Given the description of an element on the screen output the (x, y) to click on. 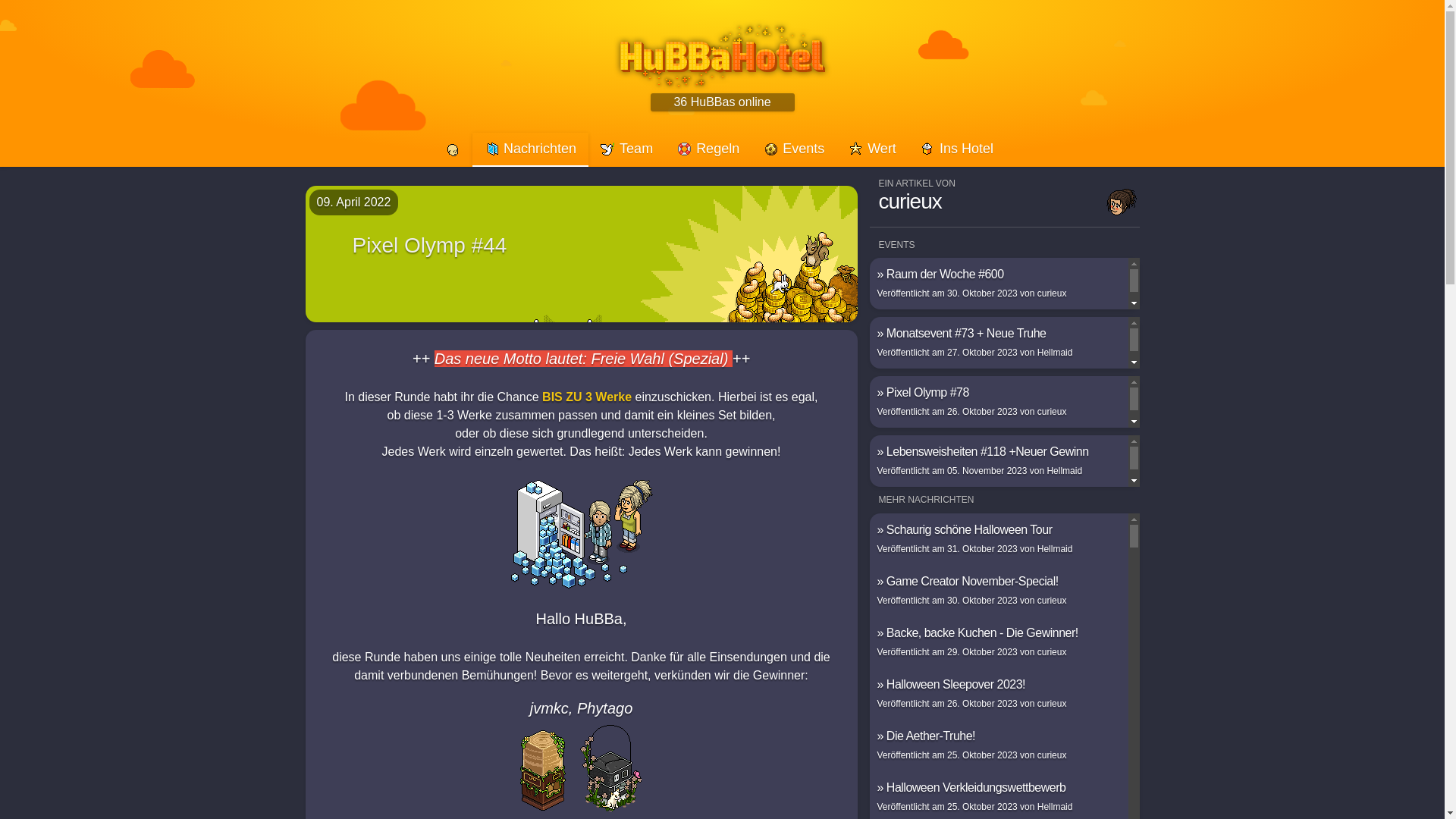
Team Element type: text (626, 149)
Events Element type: text (793, 149)
Nachrichten Element type: text (530, 149)
Wert Element type: text (872, 149)
Regeln Element type: text (708, 149)
Ins Hotel Element type: text (956, 149)
